Given the description of an element on the screen output the (x, y) to click on. 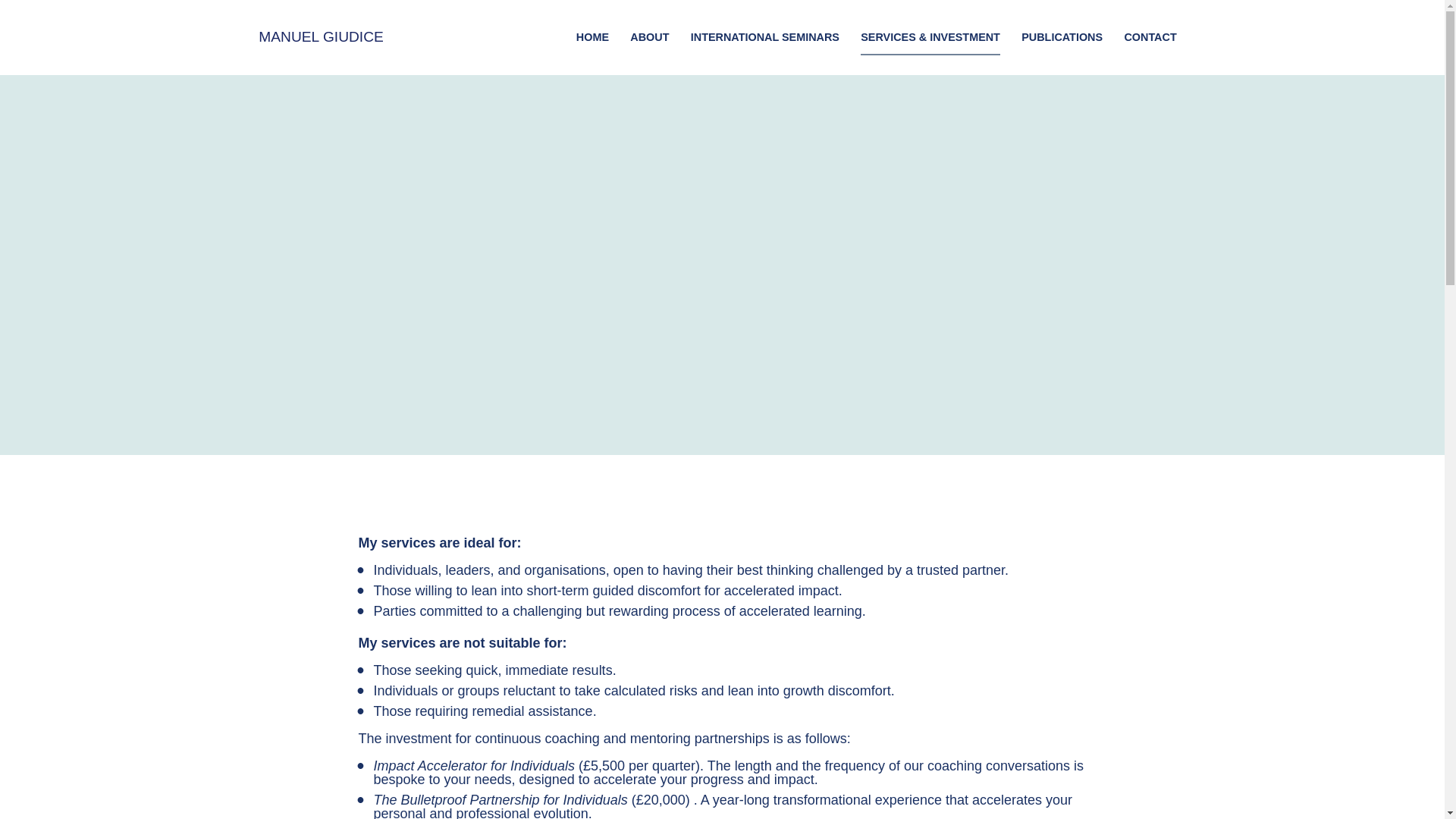
CONTACT (1150, 37)
INTERNATIONAL SEMINARS (765, 37)
ABOUT (649, 37)
MANUEL GIUDICE (321, 37)
HOME (592, 37)
PUBLICATIONS (1062, 37)
